Given the description of an element on the screen output the (x, y) to click on. 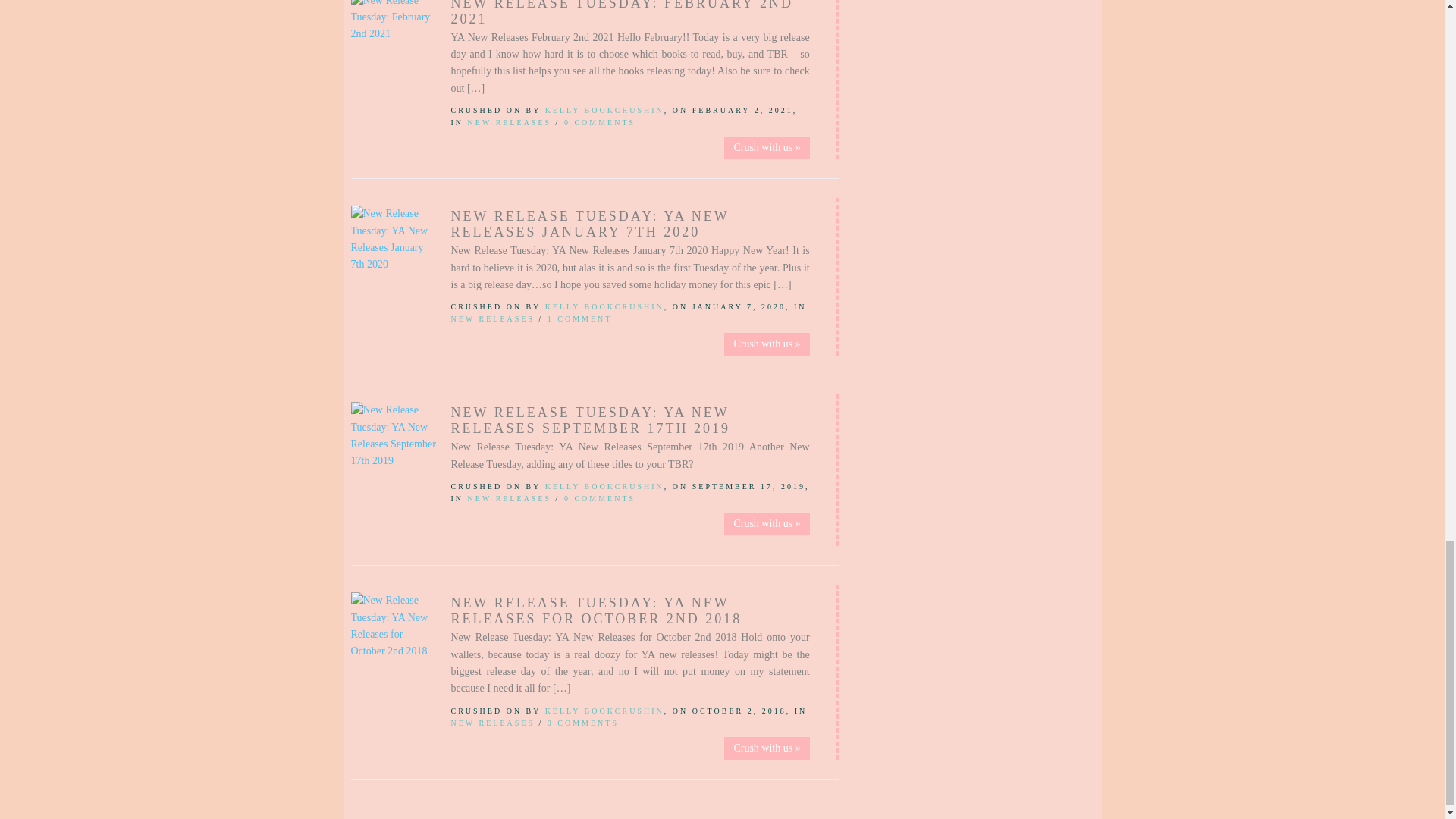
View all posts in New Releases (509, 121)
